Given the description of an element on the screen output the (x, y) to click on. 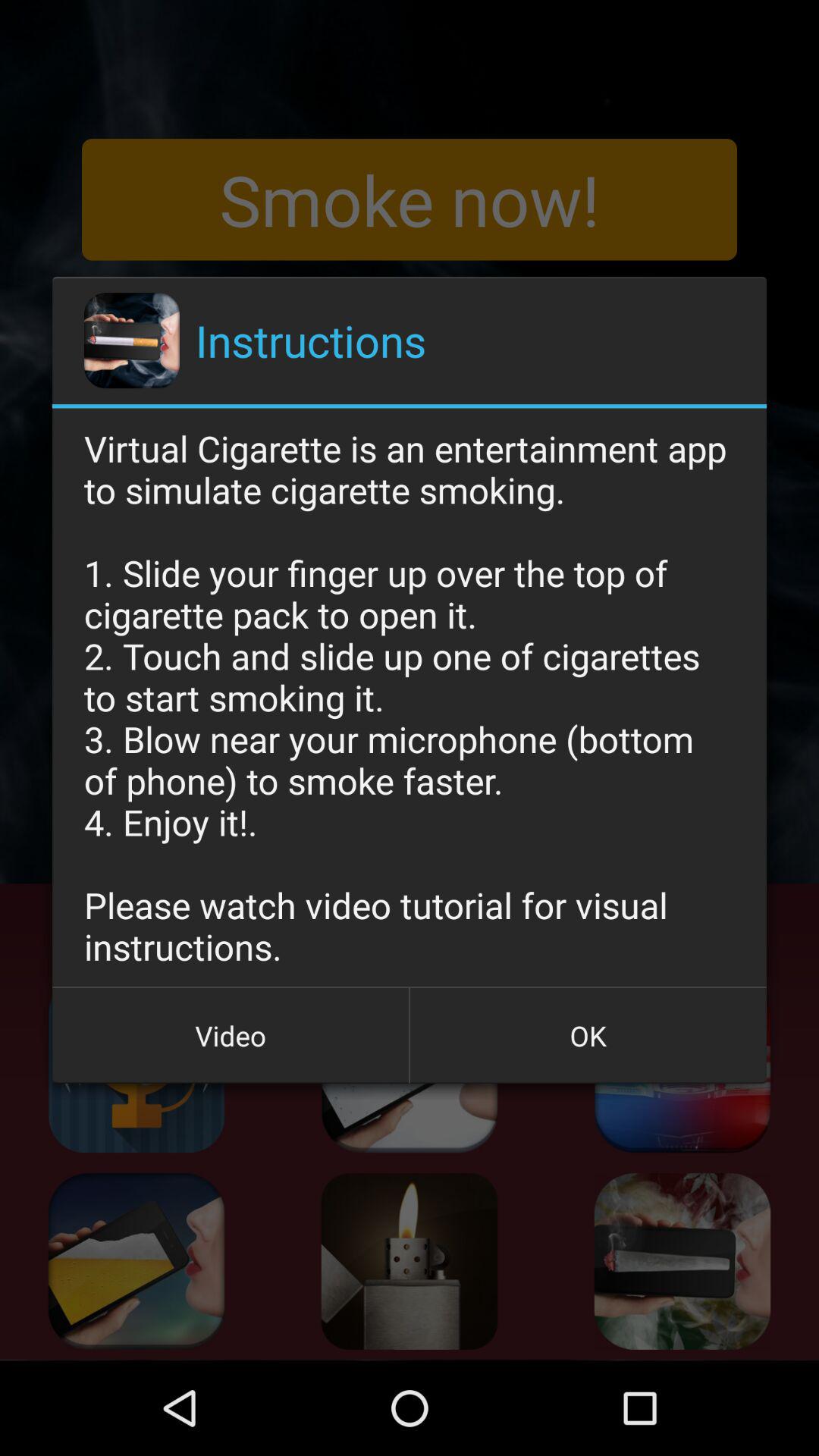
scroll until video icon (230, 1035)
